Given the description of an element on the screen output the (x, y) to click on. 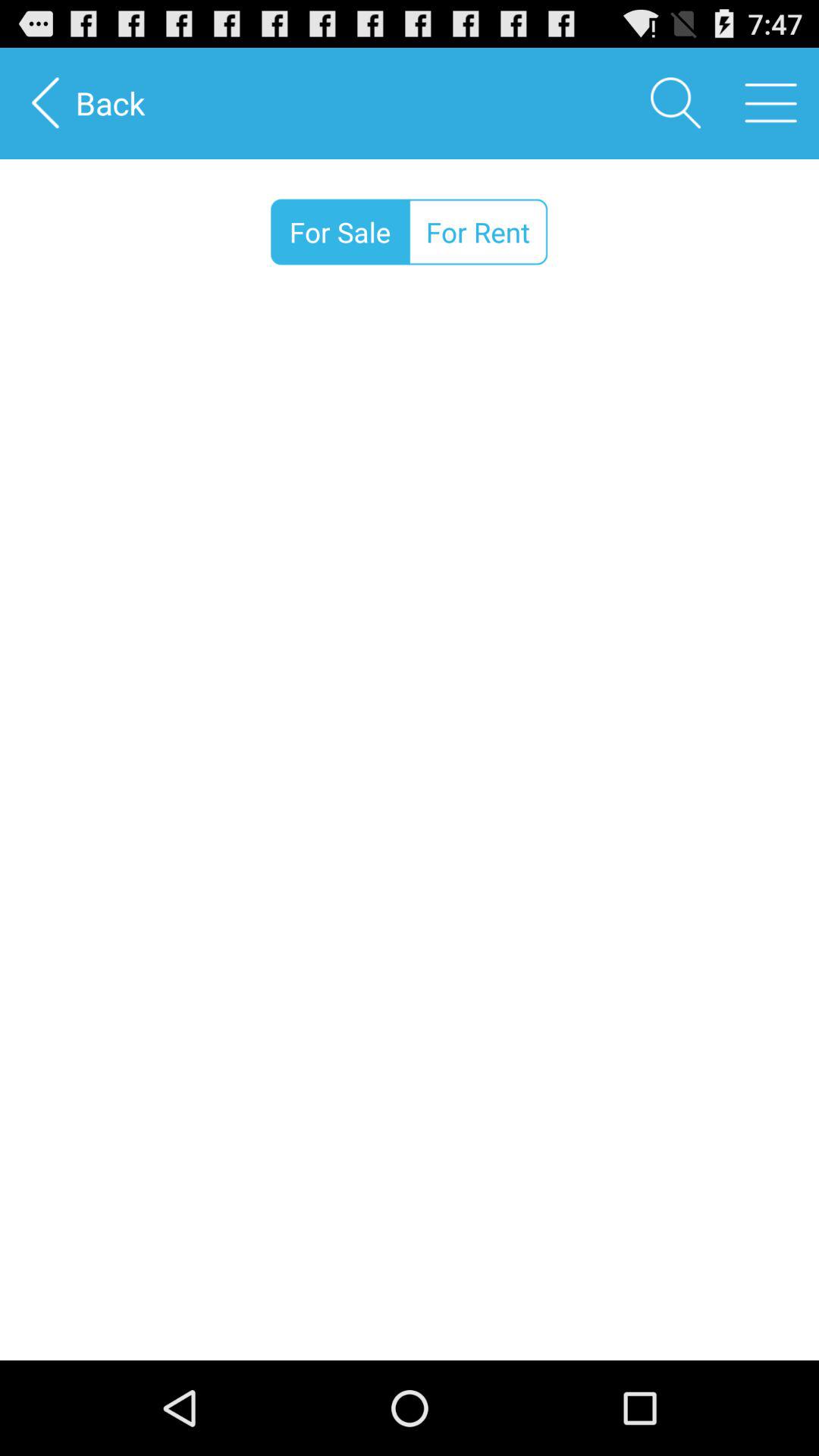
flip until for sale (340, 232)
